Given the description of an element on the screen output the (x, y) to click on. 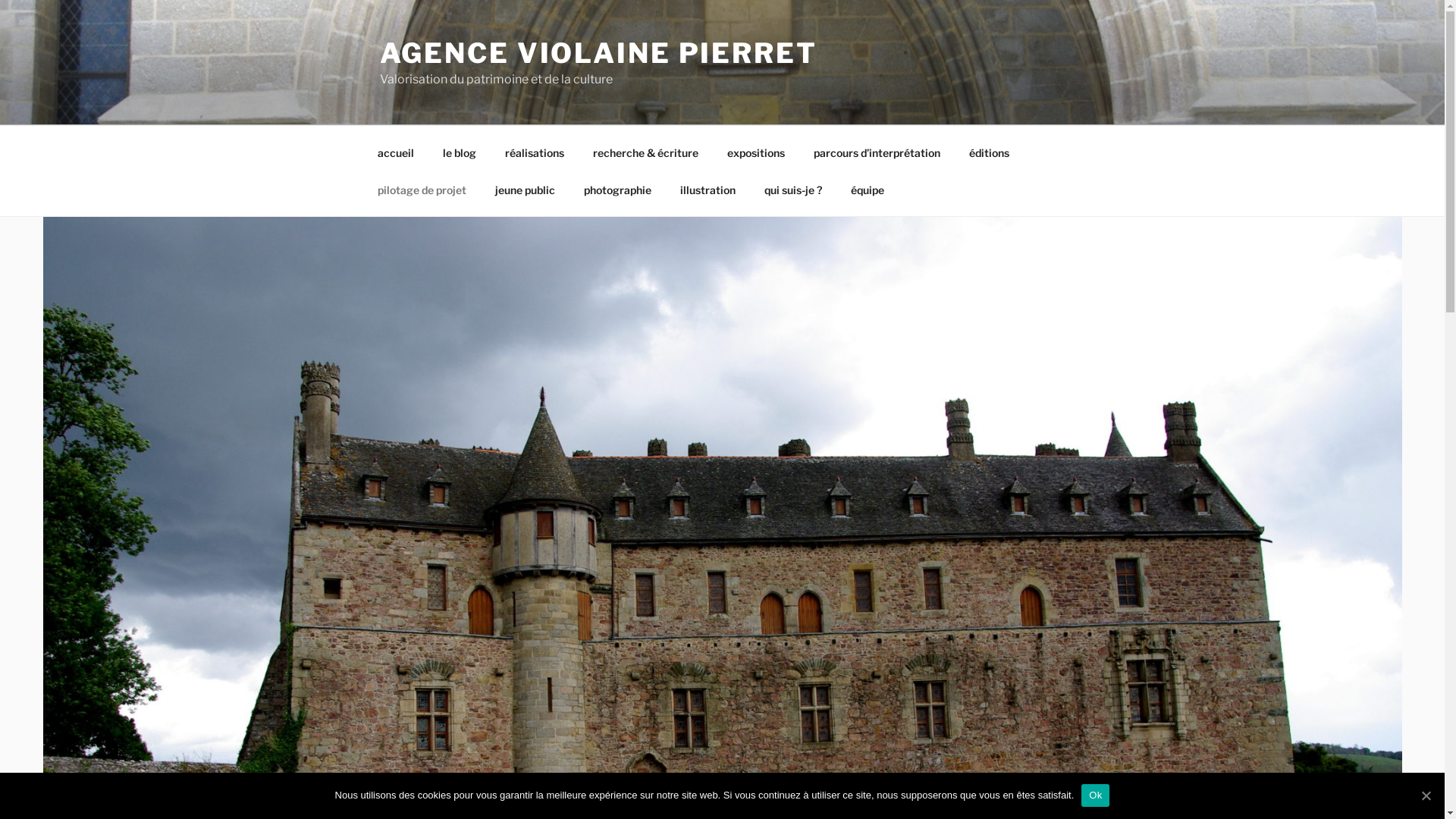
expositions Element type: text (756, 151)
photographie Element type: text (617, 189)
qui suis-je ? Element type: text (792, 189)
Aller au contenu principal Element type: text (0, 0)
illustration Element type: text (708, 189)
accueil Element type: text (395, 151)
jeune public Element type: text (525, 189)
AGENCE VIOLAINE PIERRET Element type: text (597, 52)
pilotage de projet Element type: text (421, 189)
Ok Element type: text (1095, 795)
le blog Element type: text (459, 151)
